Given the description of an element on the screen output the (x, y) to click on. 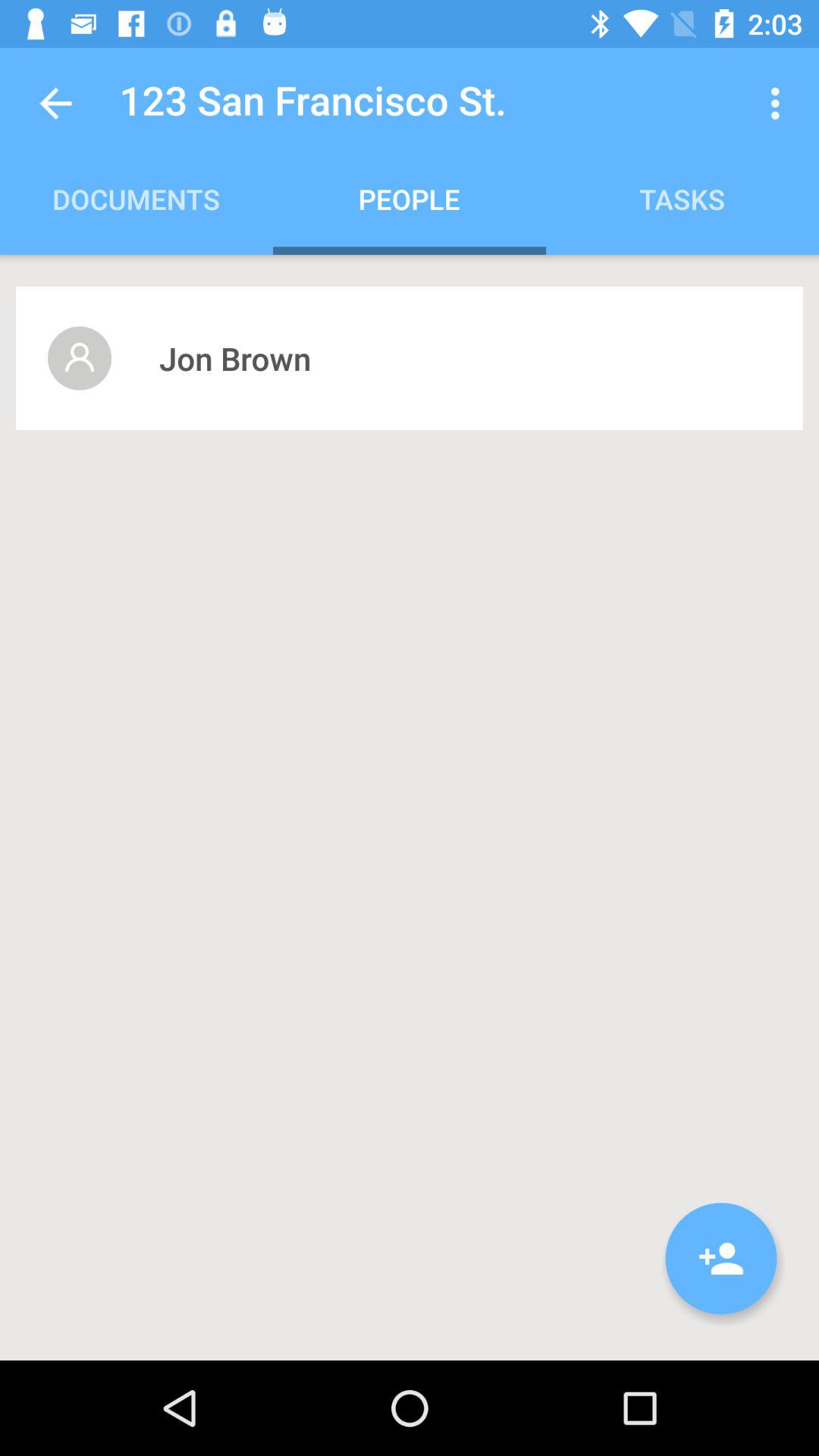
turn off the icon to the left of 123 san francisco item (55, 103)
